Given the description of an element on the screen output the (x, y) to click on. 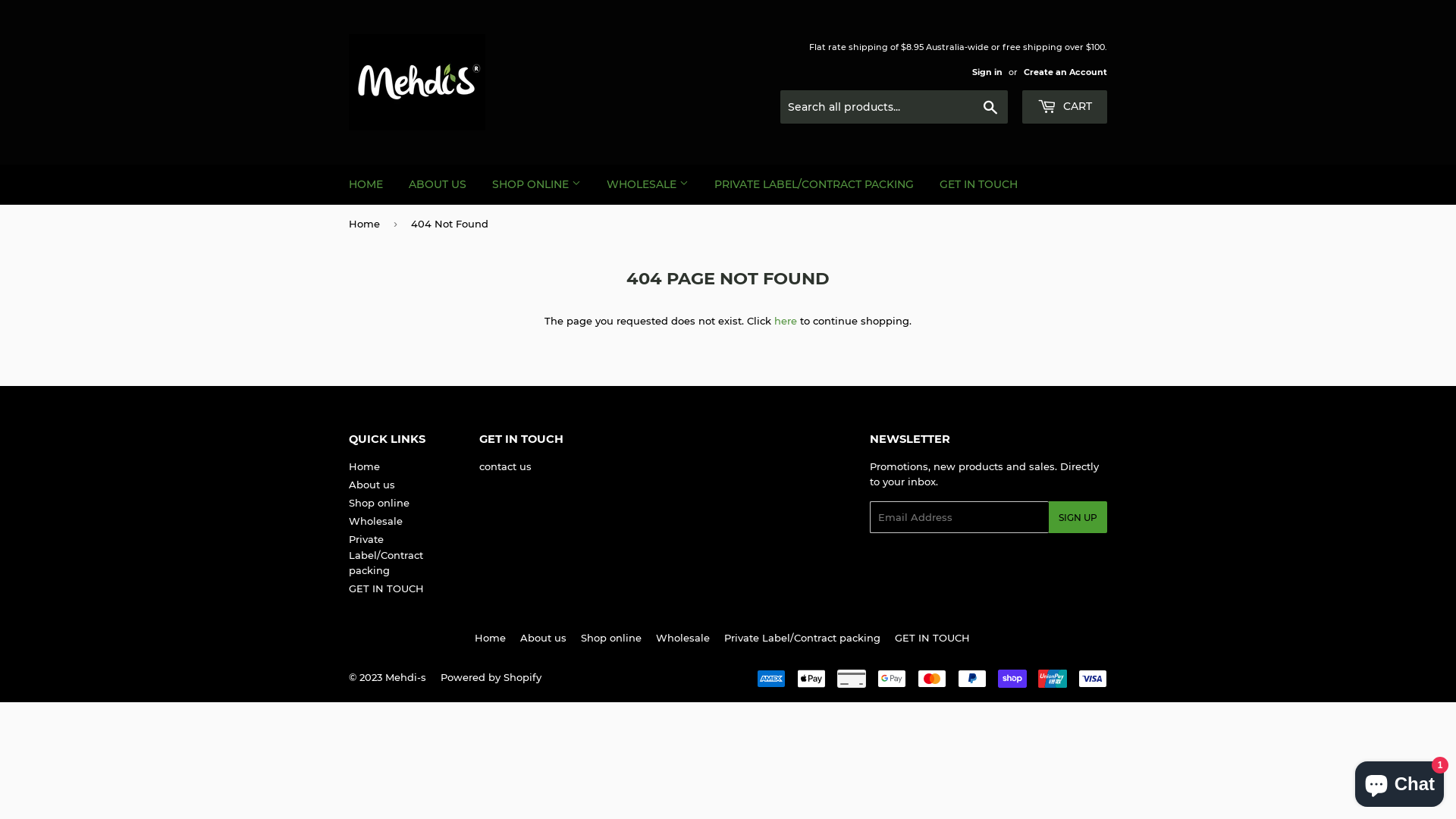
CART Element type: text (1064, 106)
Private Label/Contract packing Element type: text (385, 555)
About us Element type: text (371, 484)
PRIVATE LABEL/CONTRACT PACKING Element type: text (813, 183)
Create an Account Element type: text (1065, 71)
Wholesale Element type: text (375, 520)
SHOP ONLINE Element type: text (536, 183)
HOME Element type: text (365, 183)
Shopify online store chat Element type: hover (1399, 780)
WHOLESALE Element type: text (647, 183)
GET IN TOUCH Element type: text (931, 637)
ABOUT US Element type: text (437, 183)
Home Element type: text (366, 223)
Shop online Element type: text (378, 502)
GET IN TOUCH Element type: text (385, 588)
Search Element type: text (990, 107)
Mehdi-s Element type: text (405, 677)
Shop online Element type: text (610, 637)
About us Element type: text (543, 637)
Home Element type: text (363, 466)
Wholesale Element type: text (682, 637)
Private Label/Contract packing Element type: text (802, 637)
GET IN TOUCH Element type: text (978, 183)
SIGN UP Element type: text (1077, 517)
Sign in Element type: text (987, 71)
Home Element type: text (489, 637)
here Element type: text (785, 320)
Powered by Shopify Element type: text (490, 677)
